Given the description of an element on the screen output the (x, y) to click on. 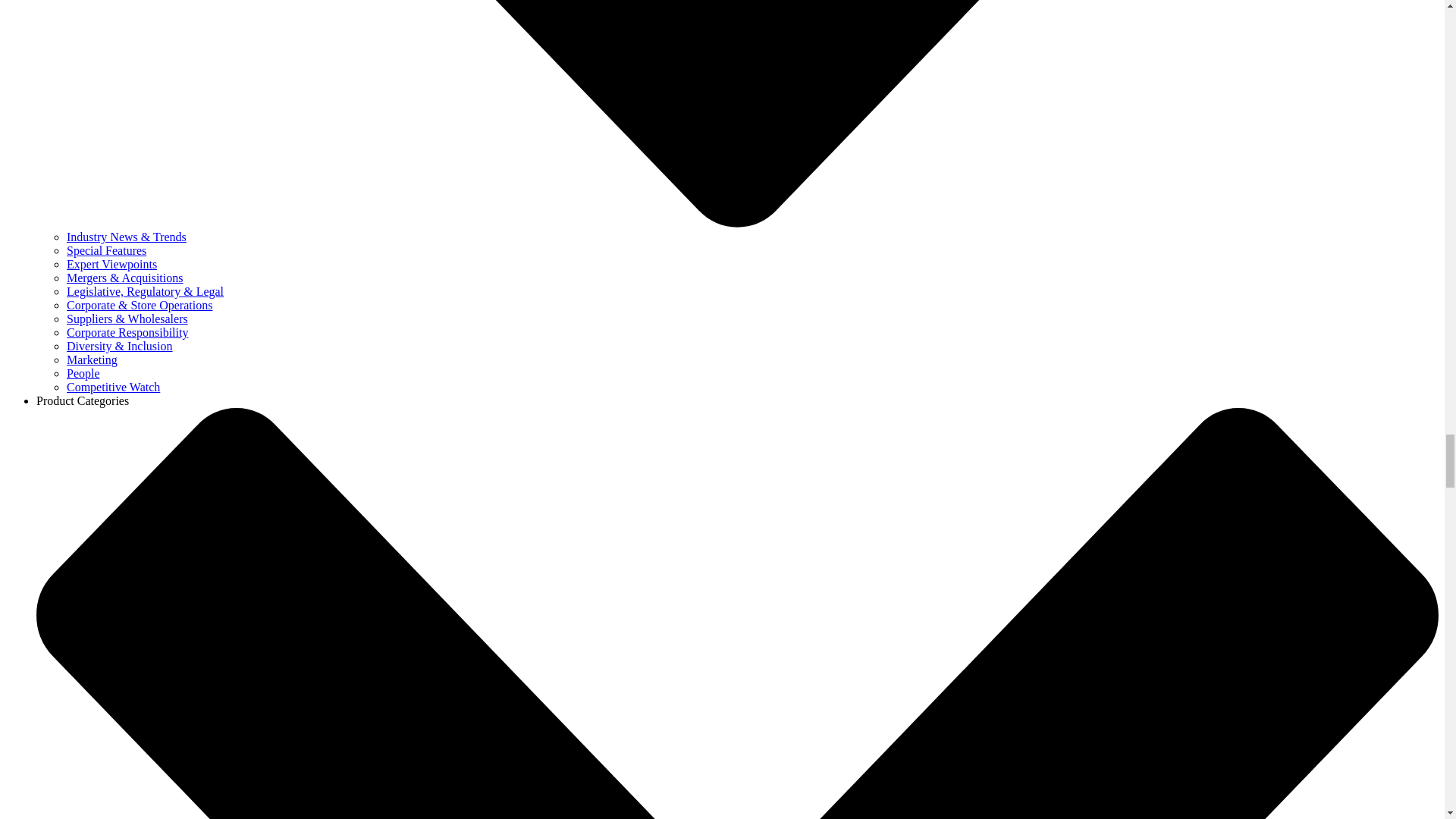
Corporate Responsibility (126, 332)
Product Categories (82, 400)
Special Features (106, 250)
People (83, 373)
Expert Viewpoints (111, 264)
Competitive Watch (113, 386)
Marketing (91, 359)
